Given the description of an element on the screen output the (x, y) to click on. 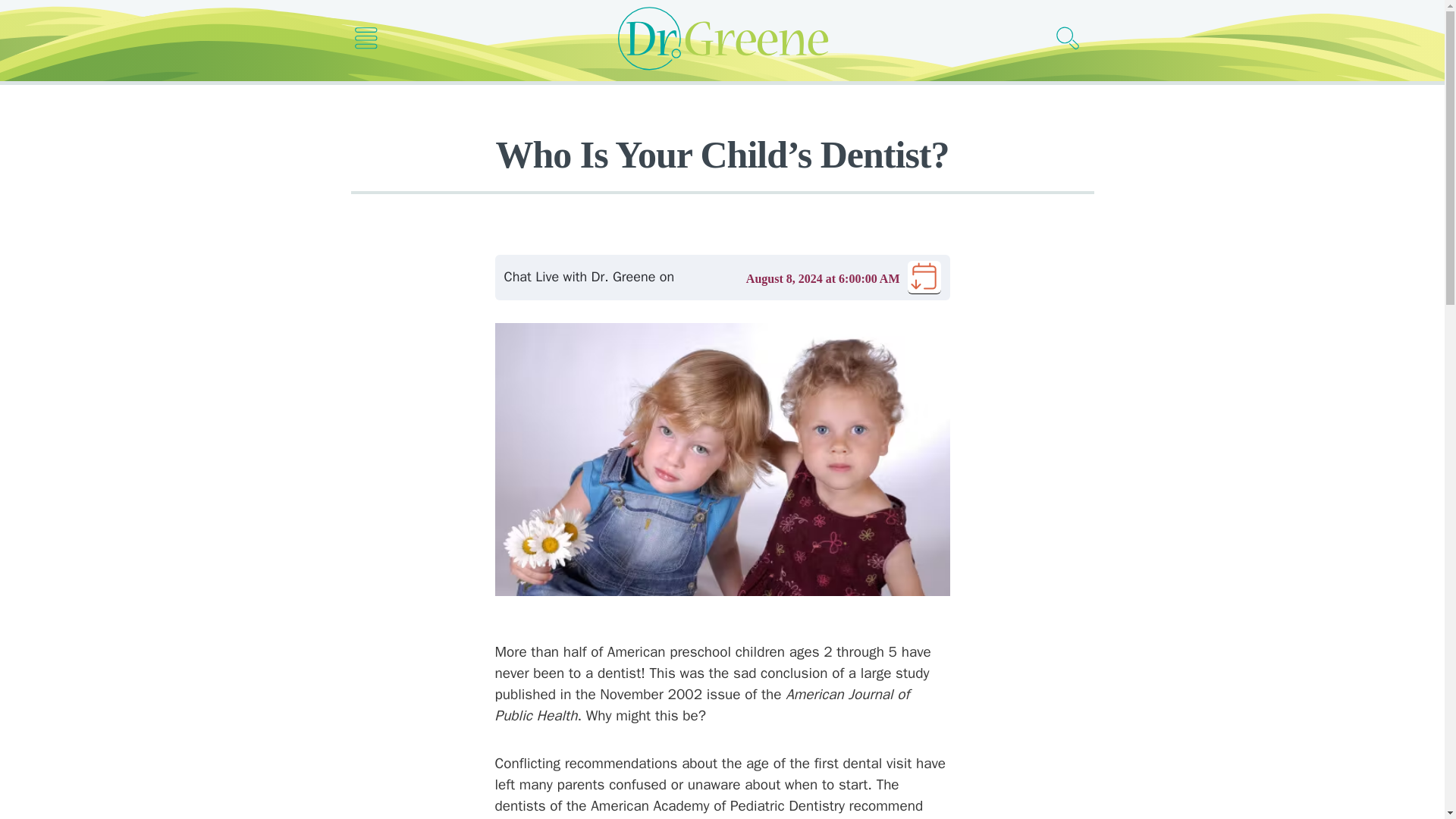
Dr Greene logo (721, 37)
